Given the description of an element on the screen output the (x, y) to click on. 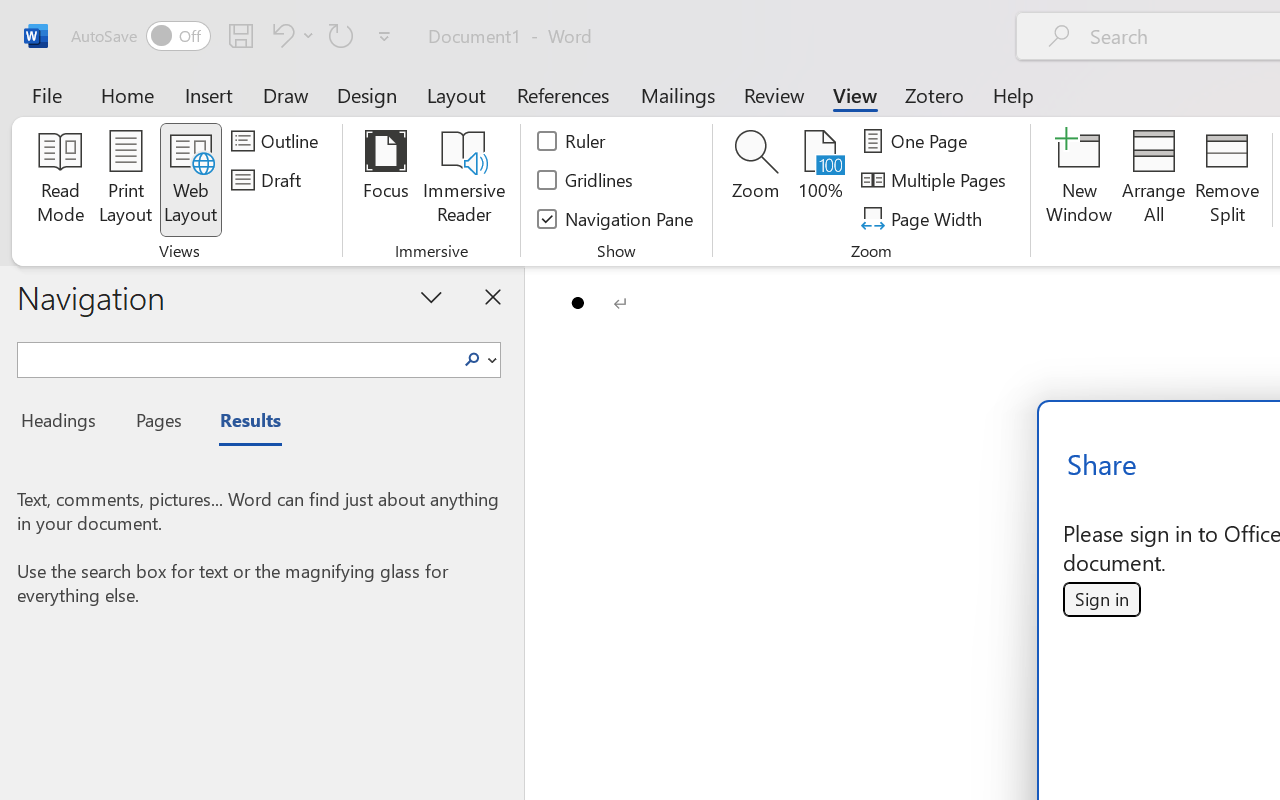
Ruler (572, 141)
Gridlines (586, 179)
Navigation Pane (616, 218)
Arrange All (1153, 179)
100% (820, 179)
